Given the description of an element on the screen output the (x, y) to click on. 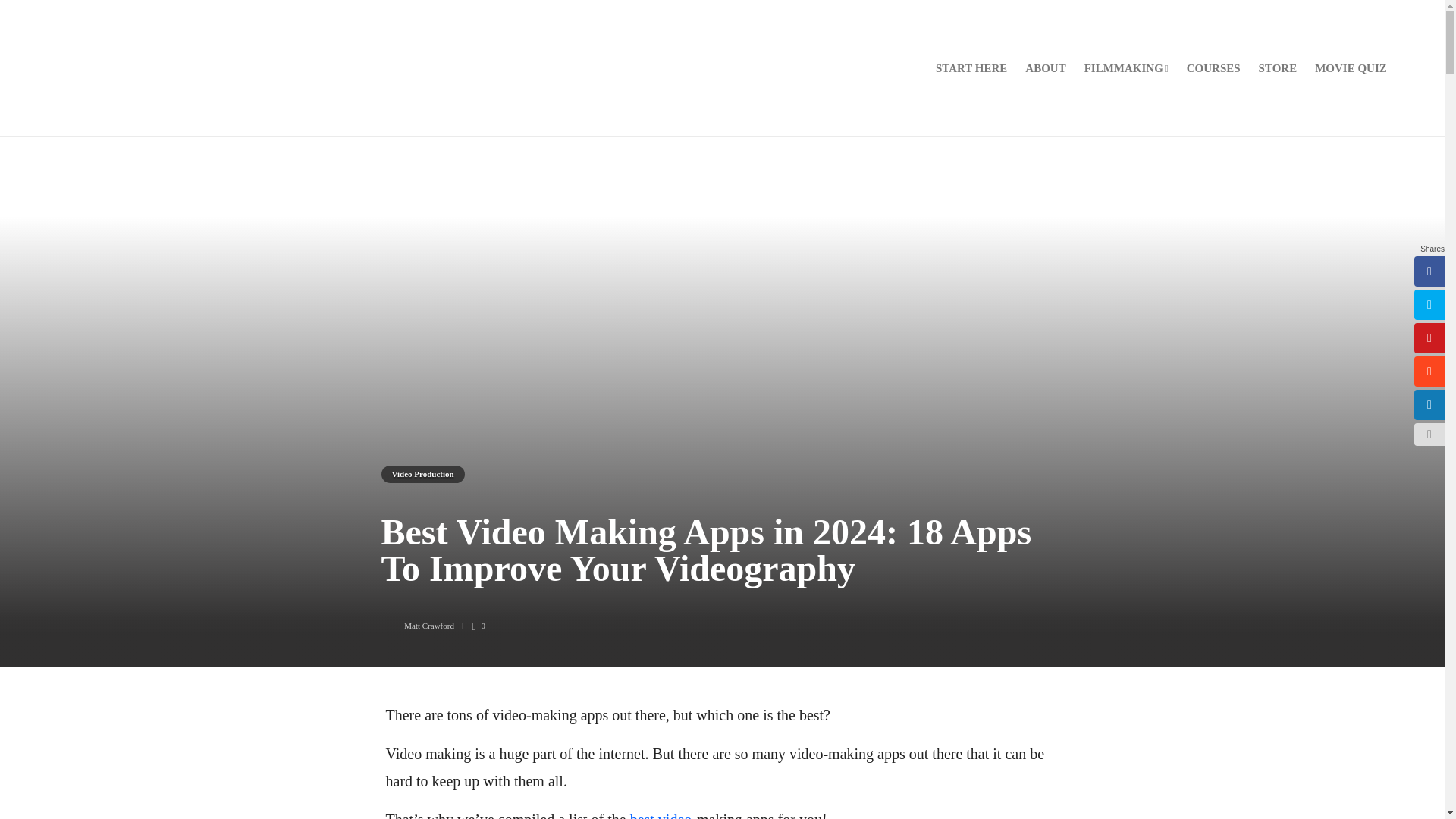
Video Production (422, 474)
COURSES (1213, 68)
MOVIE QUIZ (1350, 68)
START HERE (971, 68)
FILMMAKING (1126, 68)
Filmmaking (1126, 68)
